Given the description of an element on the screen output the (x, y) to click on. 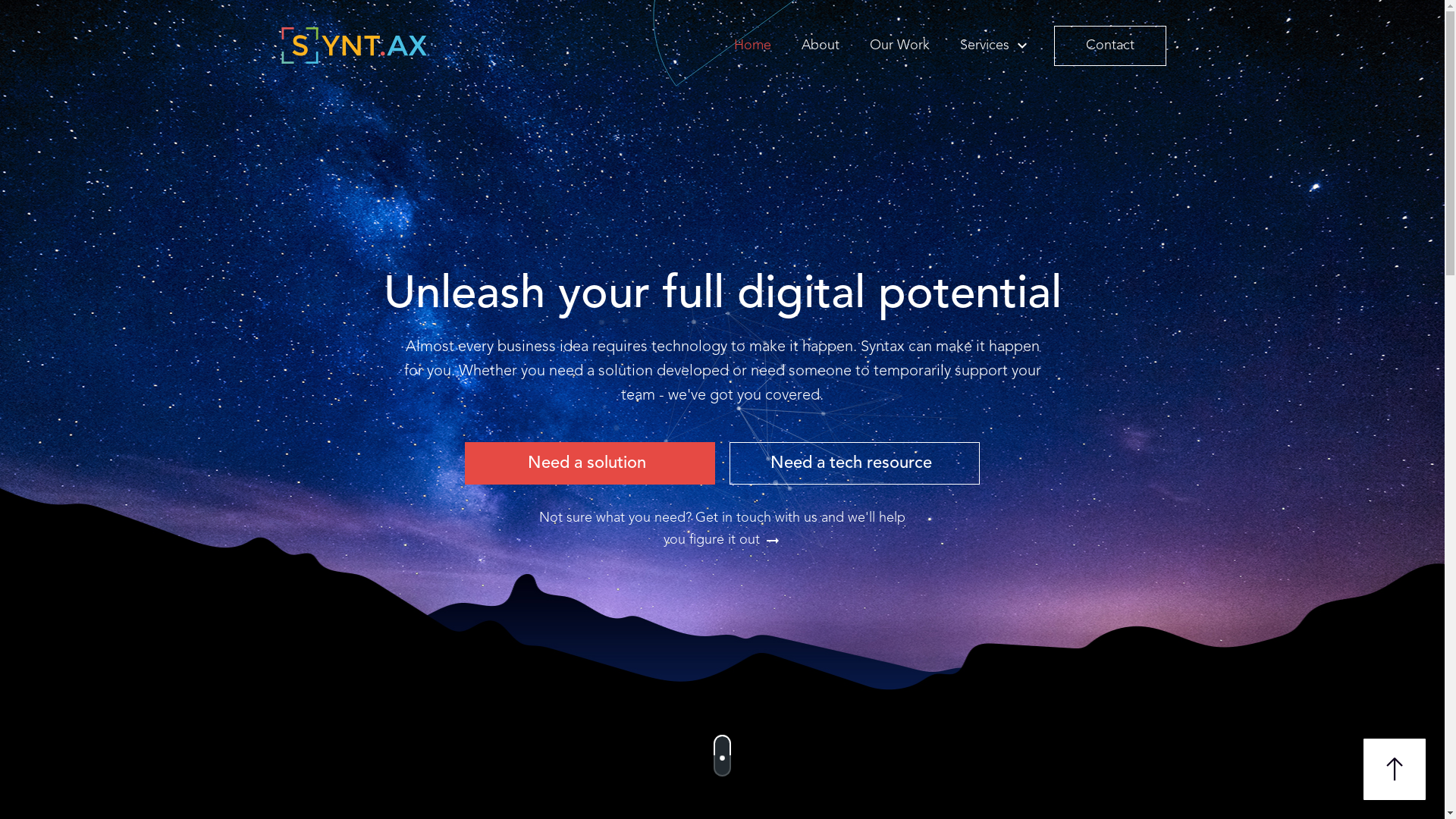
Contact Element type: text (1110, 45)
About Element type: text (820, 44)
Home Element type: text (751, 44)
Our Work Element type: text (899, 44)
